Given the description of an element on the screen output the (x, y) to click on. 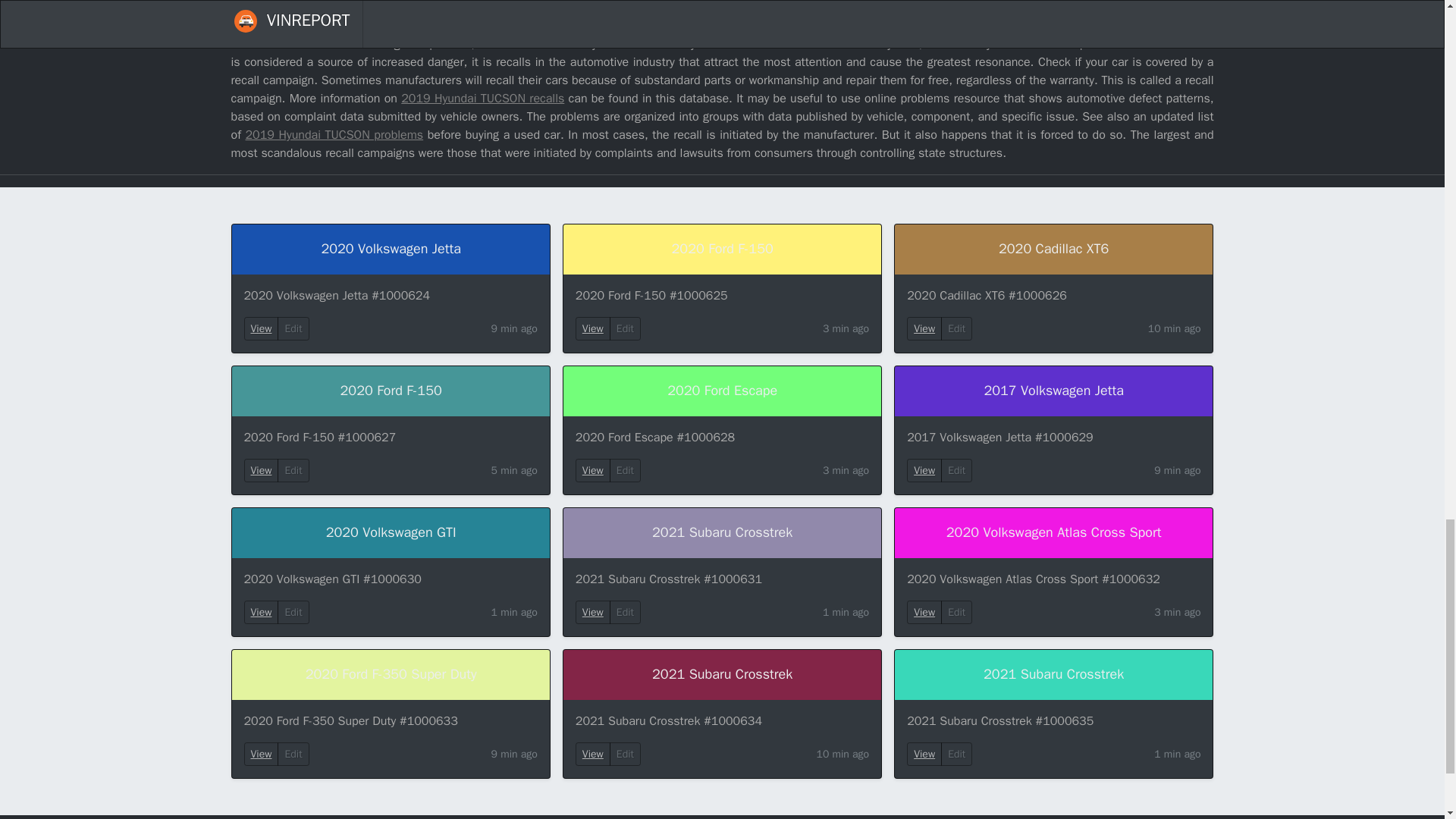
2019 Hyundai TUCSON recalls (482, 98)
View (592, 753)
View (260, 753)
Edit (625, 328)
View (261, 328)
2020 Volkswagen Jetta (390, 249)
2019 Hyundai TUCSON problems (333, 134)
2019 Hyundai TUCSON problems (333, 134)
View (593, 470)
View (593, 612)
